Given the description of an element on the screen output the (x, y) to click on. 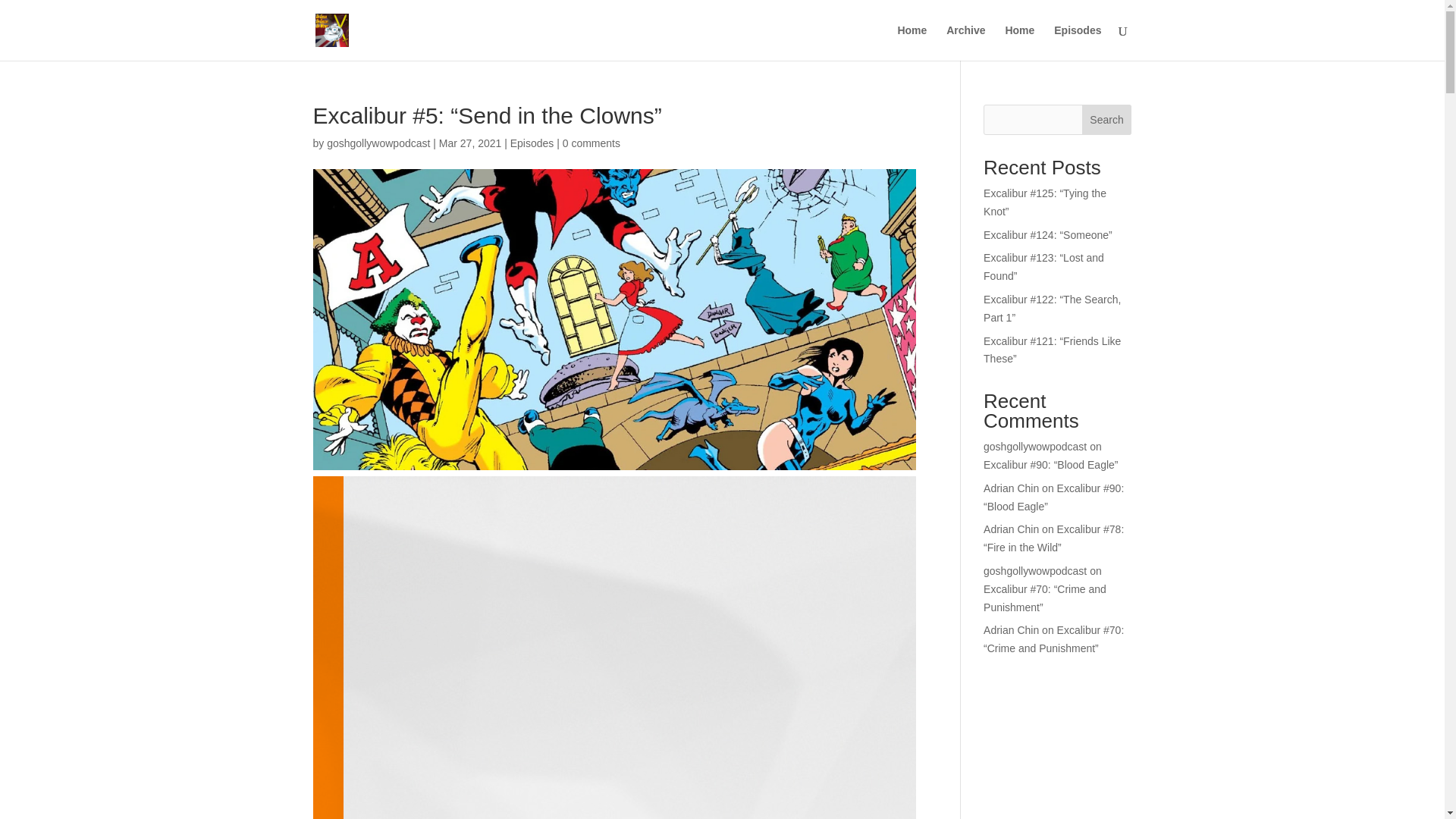
Posts by goshgollywowpodcast (377, 143)
Episodes (532, 143)
goshgollywowpodcast (1035, 571)
Archive (965, 42)
Search (1106, 119)
goshgollywowpodcast (377, 143)
Episodes (1077, 42)
goshgollywowpodcast (1035, 446)
0 comments (591, 143)
